Given the description of an element on the screen output the (x, y) to click on. 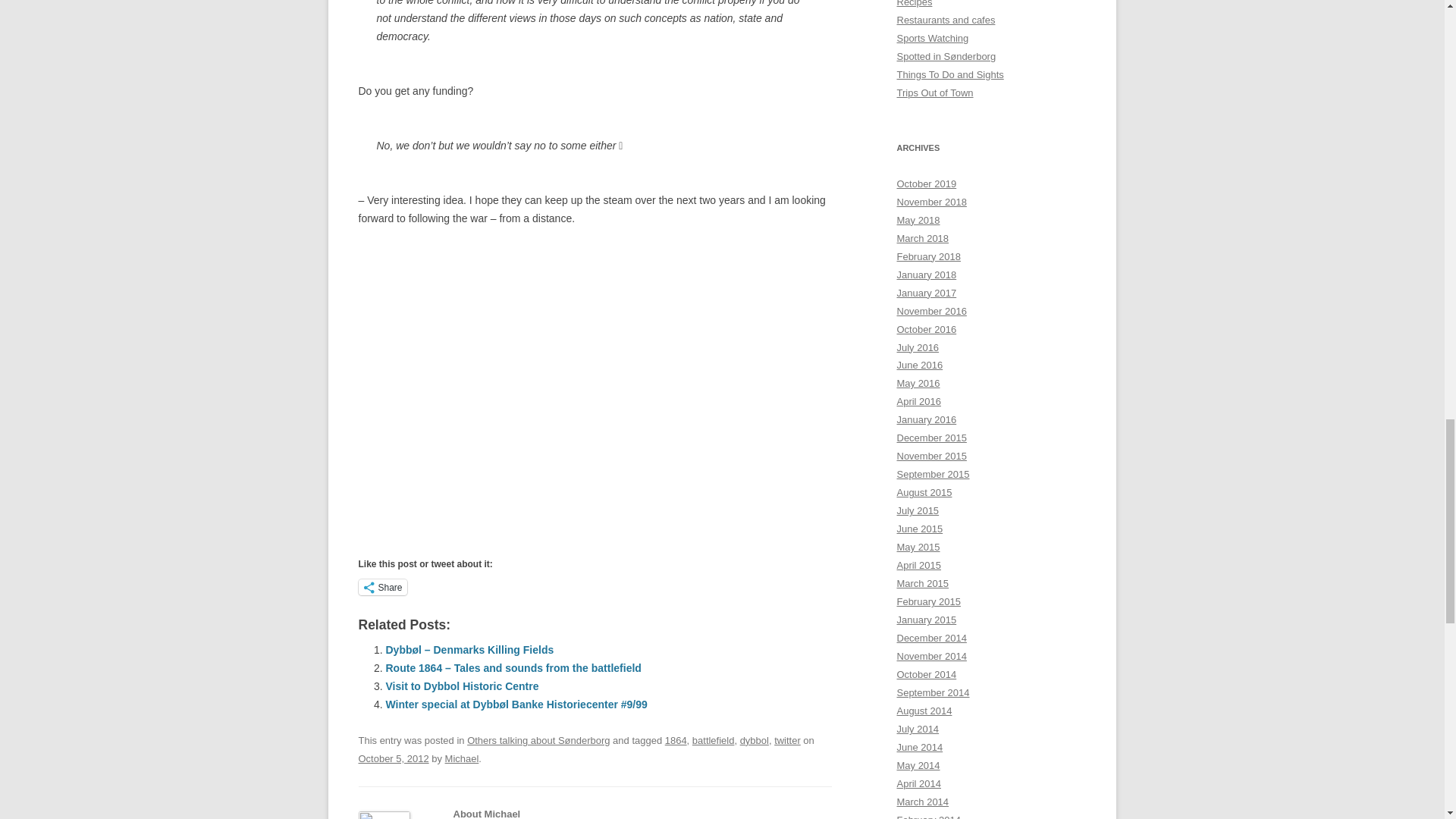
twitter (787, 740)
1864 (676, 740)
October 5, 2012 (393, 758)
battlefield (714, 740)
Visit to Dybbol Historic Centre (461, 686)
Visit to Dybbol Historic Centre (461, 686)
1864live-trailer (594, 378)
dybbol (753, 740)
8:21 am (393, 758)
Michael (462, 758)
